Given the description of an element on the screen output the (x, y) to click on. 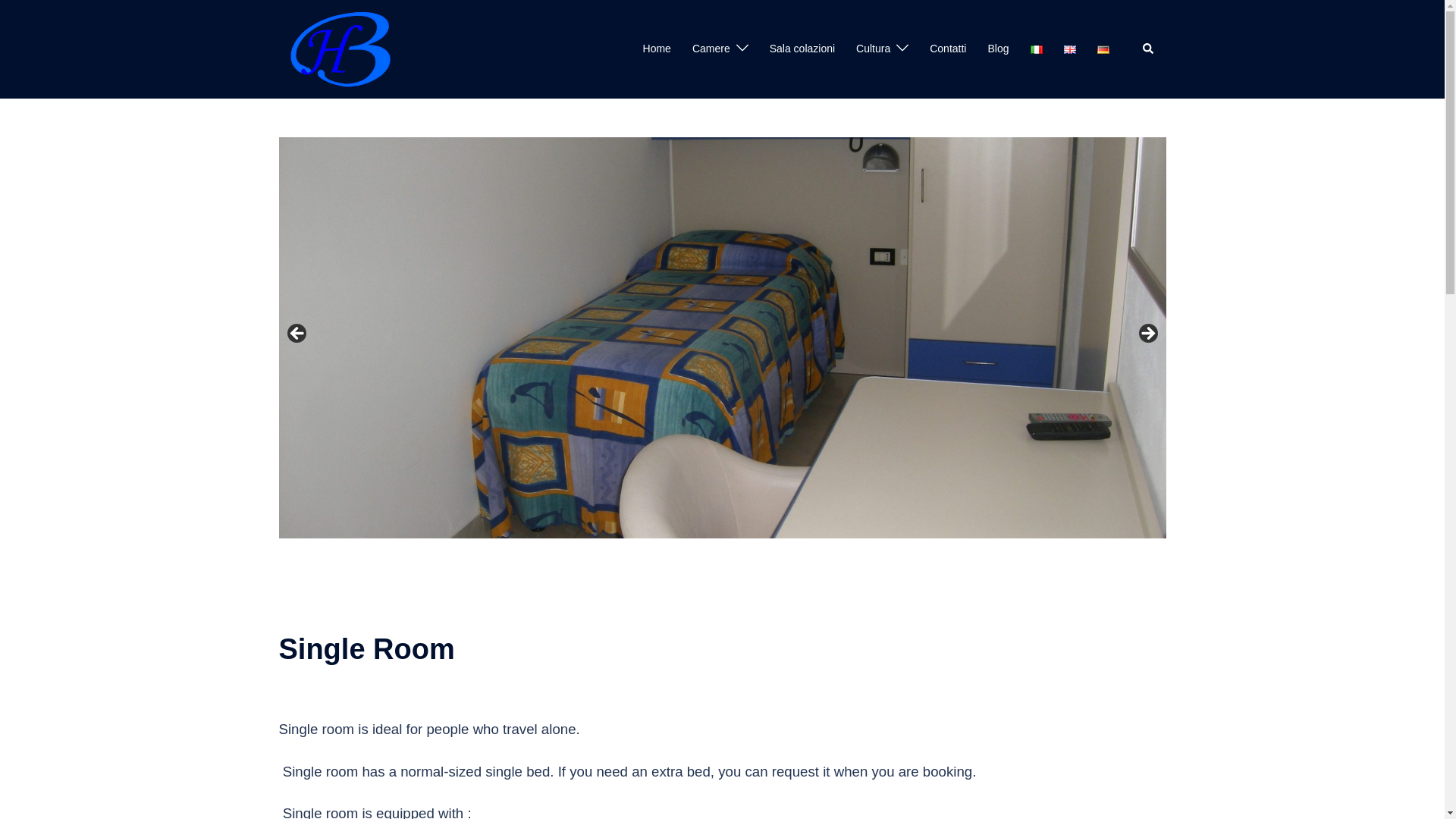
Contatti (948, 49)
Camere (711, 49)
Sala colazioni (802, 49)
Blog (998, 49)
Home (657, 49)
Cerca (1147, 49)
Cultura (872, 49)
hotel Sottomarina Belvedere (339, 47)
